Given the description of an element on the screen output the (x, y) to click on. 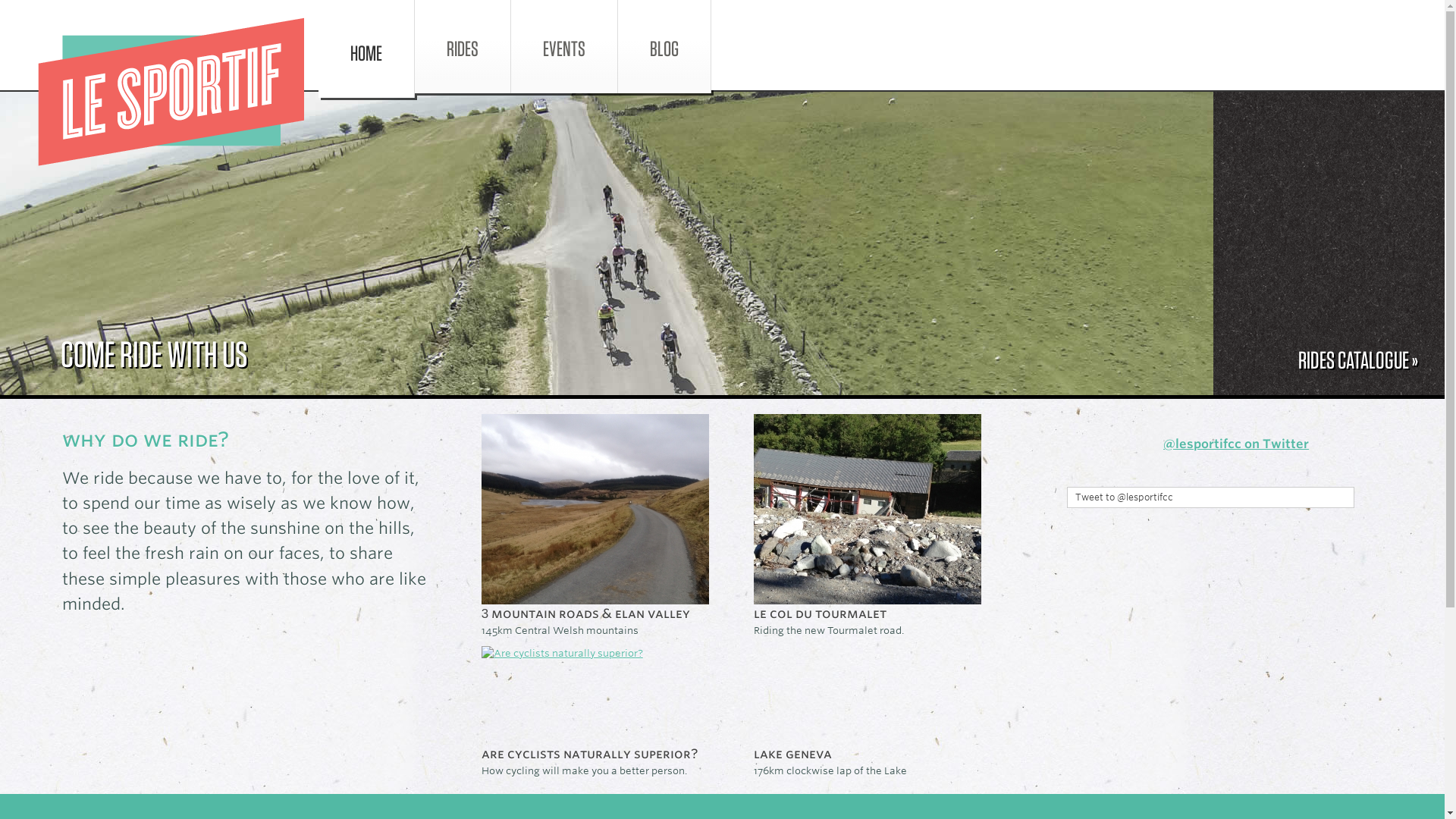
Le Col du Tourmalet Element type: text (819, 613)
EVENTS Element type: text (564, 46)
Are cyclists naturally superior? Element type: text (589, 753)
@lesportifcc on Twitter Element type: text (1235, 443)
Le Sportif 2016 Calendar Element type: text (722, 546)
Lake Geneva Element type: text (792, 753)
Tweet to @lesportifcc Element type: text (1210, 497)
BLOG Element type: text (664, 46)
HOME Element type: text (366, 48)
Le Sportif Rides Element type: text (722, 243)
RIDES Element type: text (462, 46)
COME RIDE WITH US Element type: text (153, 354)
3 mountain roads & Elan Valley Element type: text (585, 613)
Le Sportif Element type: text (170, 91)
